Given the description of an element on the screen output the (x, y) to click on. 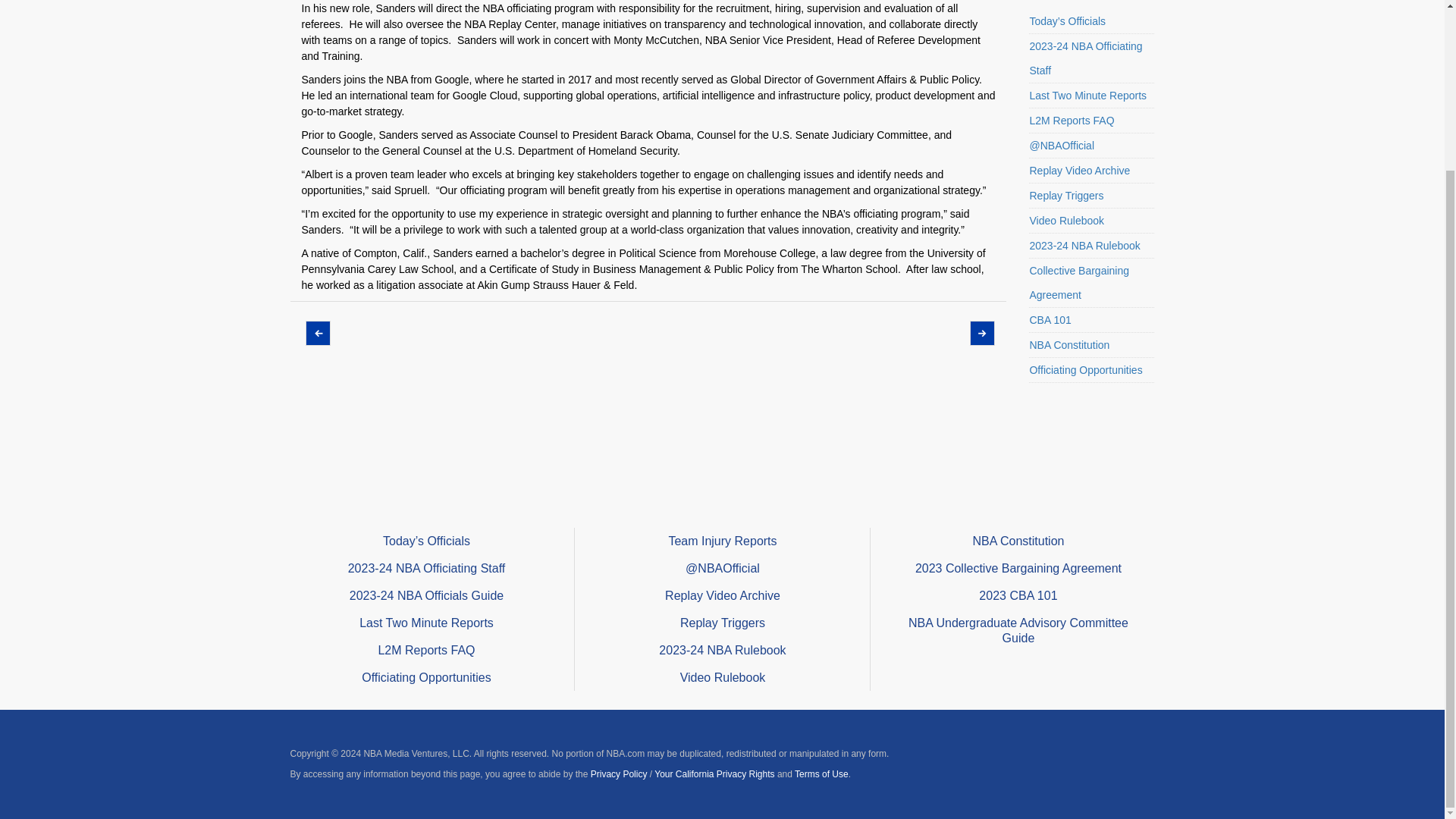
2023-24 NBA Rulebook (1091, 245)
L2M Reports FAQ (1091, 120)
Video Rulebook (1091, 220)
2023-24 NBA Officiating Staff (1091, 58)
Last Two Minute Reports (1091, 95)
Replay Triggers (1091, 195)
Replay Video Archive (1091, 170)
EDUCATIONAL VIDEO: FLOPPING  (315, 333)
